Given the description of an element on the screen output the (x, y) to click on. 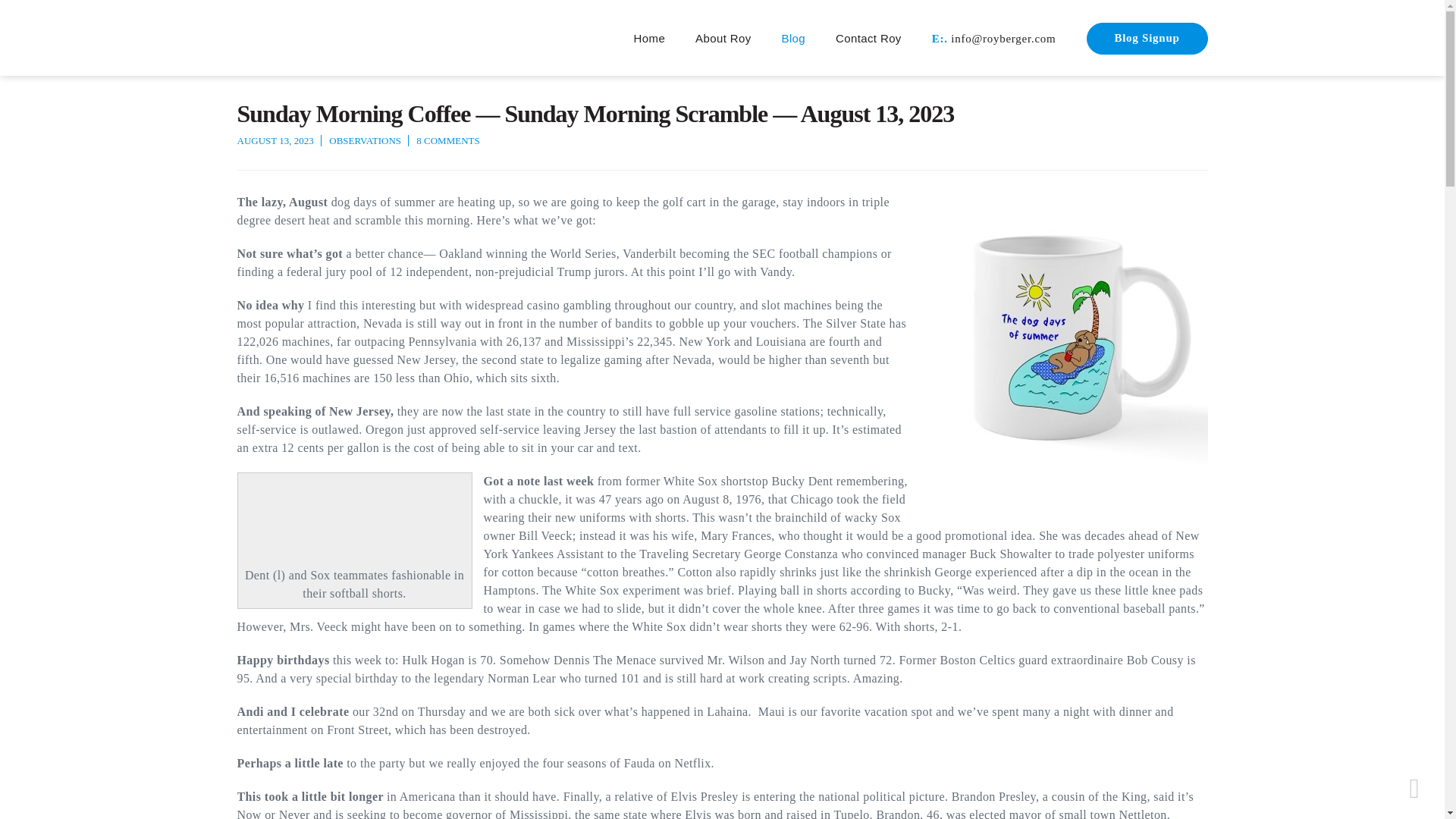
OBSERVATIONS (365, 140)
Blog (793, 38)
About Roy (722, 38)
Blog Signup (1146, 38)
Contact Roy (868, 38)
Home (649, 38)
8 COMMENTS (447, 140)
